Given the description of an element on the screen output the (x, y) to click on. 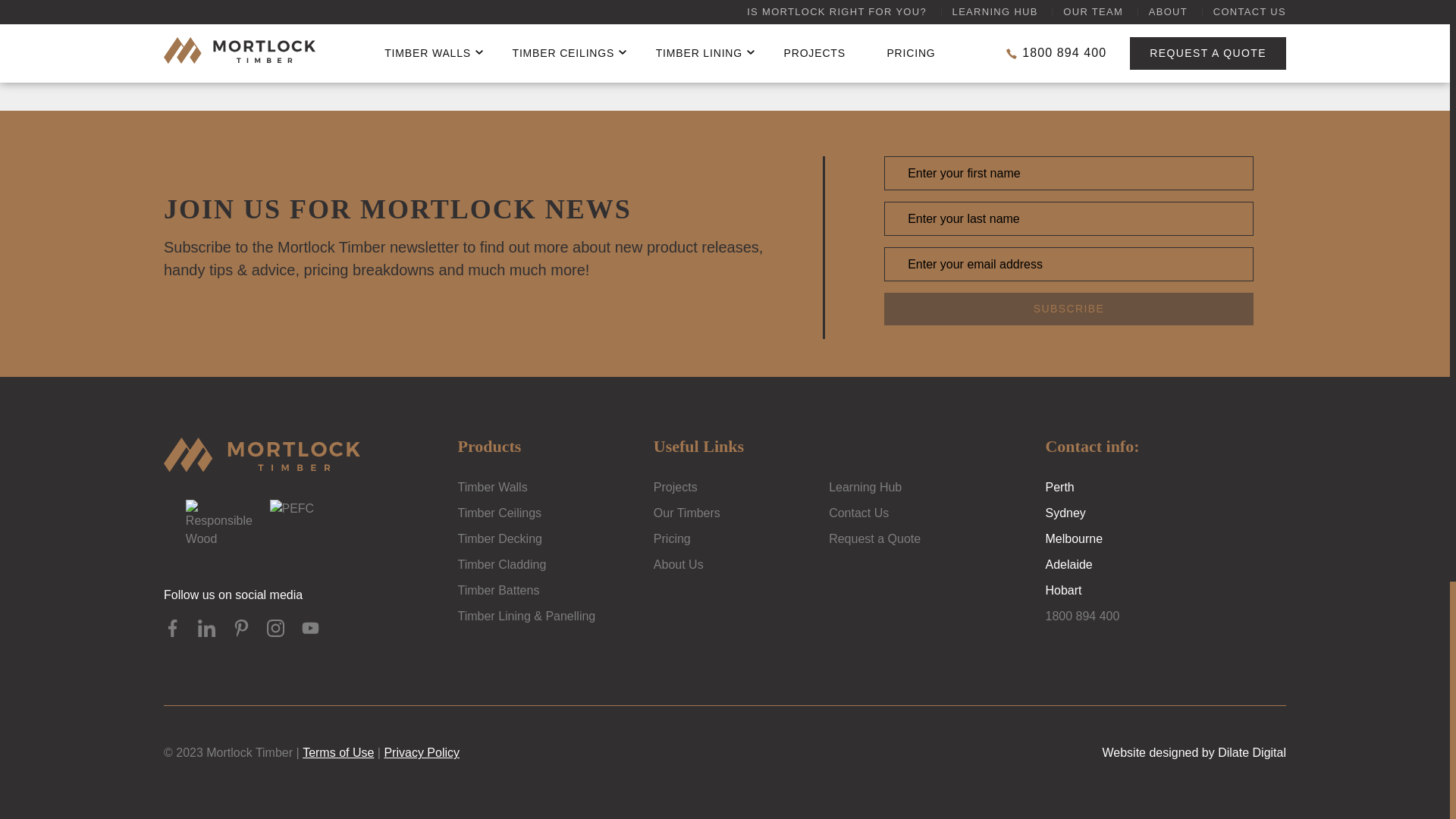
Subscribe (1068, 308)
Subscribe (1068, 308)
